Given the description of an element on the screen output the (x, y) to click on. 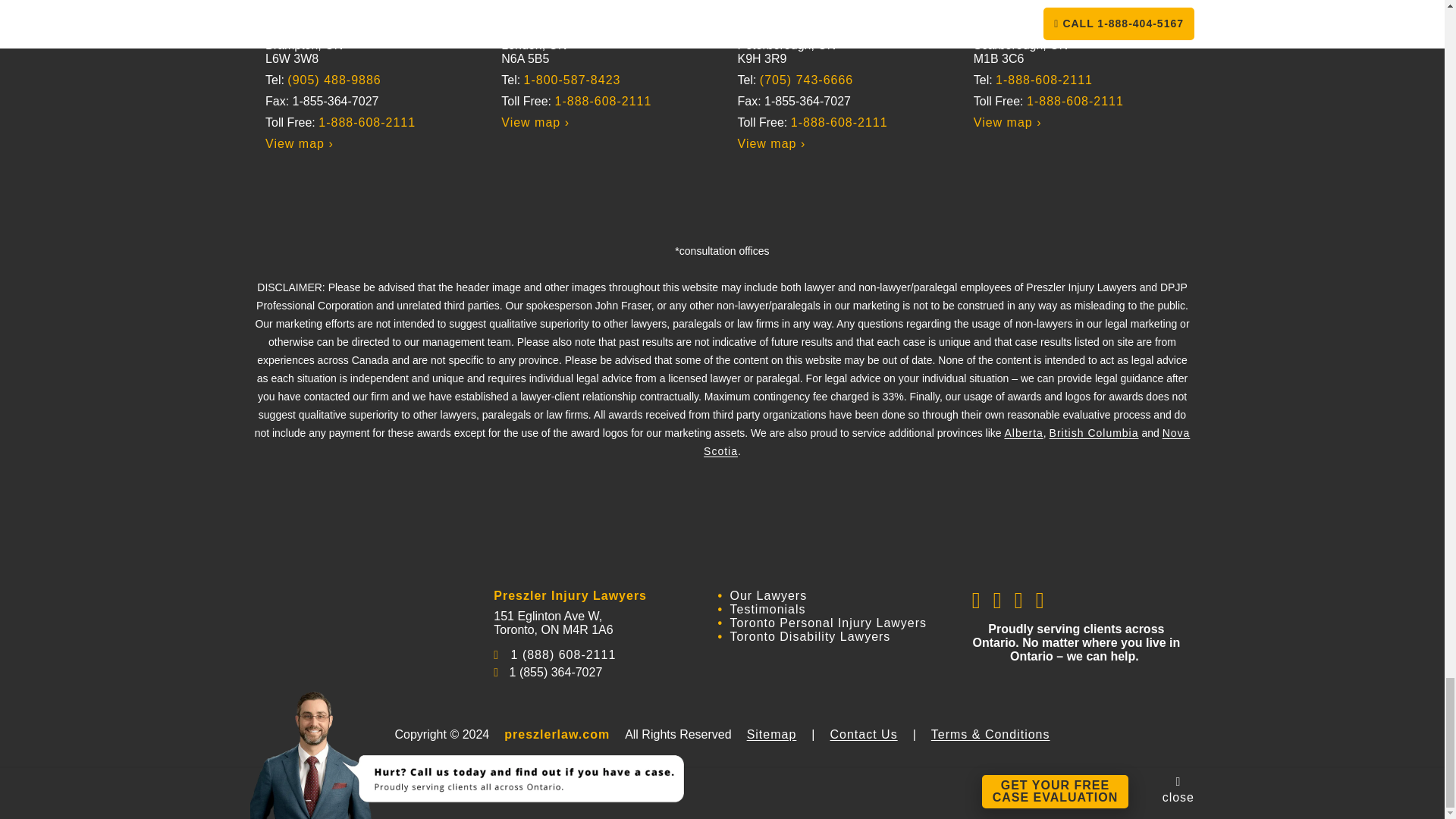
Follow on Twitter (997, 600)
Follow on Facebook (976, 600)
Watch on YouTube (1040, 600)
Follow on Instagram (1018, 600)
